Given the description of an element on the screen output the (x, y) to click on. 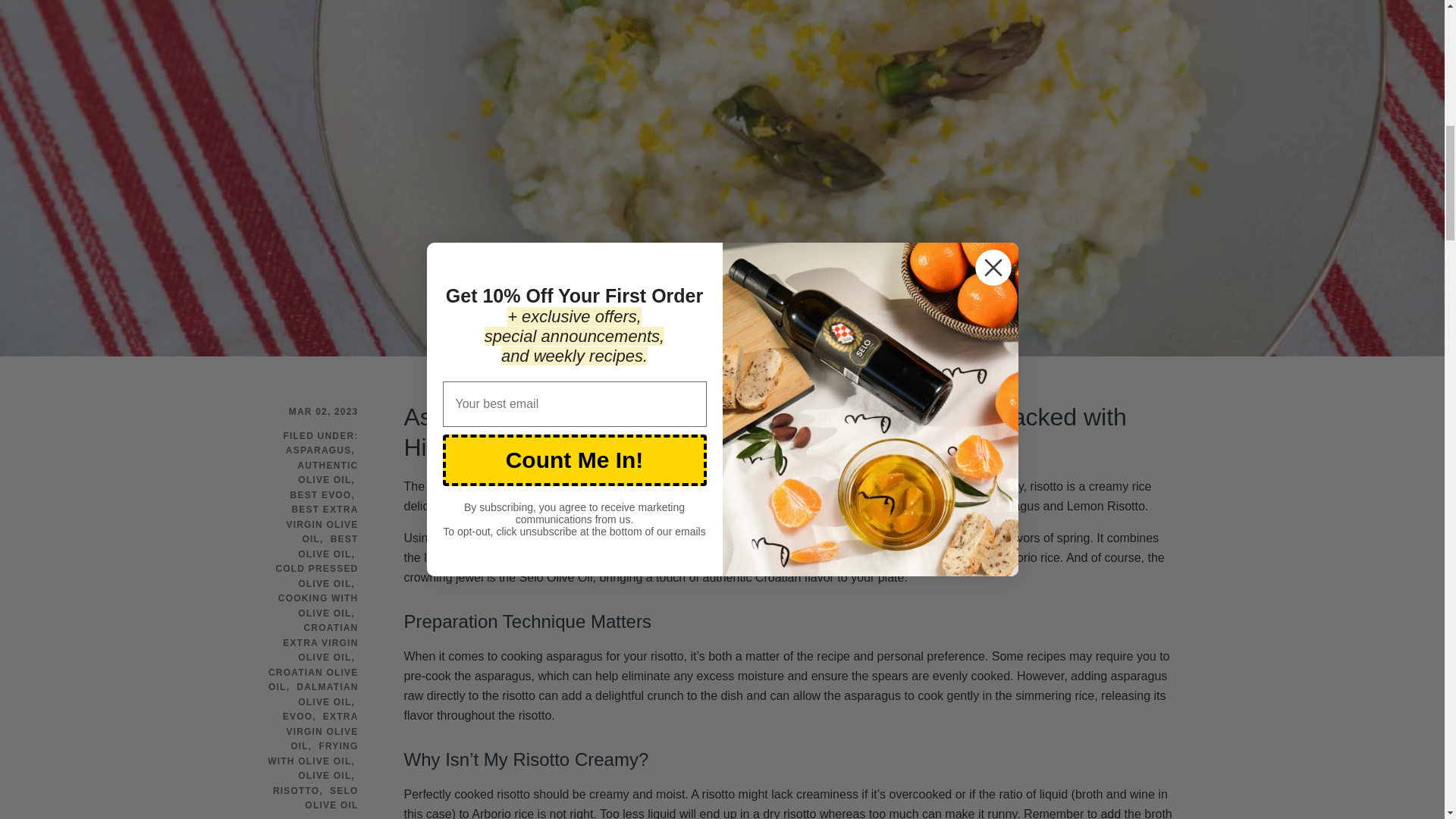
BEST EXTRA VIRGIN OLIVE OIL (321, 524)
COLD PRESSED OLIVE OIL (316, 575)
COOKING WITH OLIVE OIL (318, 605)
EXTRA VIRGIN OLIVE OIL (321, 731)
BEST EVOO (320, 494)
CROATIAN OLIVE OIL (312, 679)
CROATIAN EXTRA VIRGIN OLIVE OIL (320, 642)
DALMATIAN OLIVE OIL (327, 694)
BEST OLIVE OIL (328, 546)
EVOO (297, 716)
AUTHENTIC OLIVE OIL (327, 472)
ASPARAGUS (318, 450)
